Given the description of an element on the screen output the (x, y) to click on. 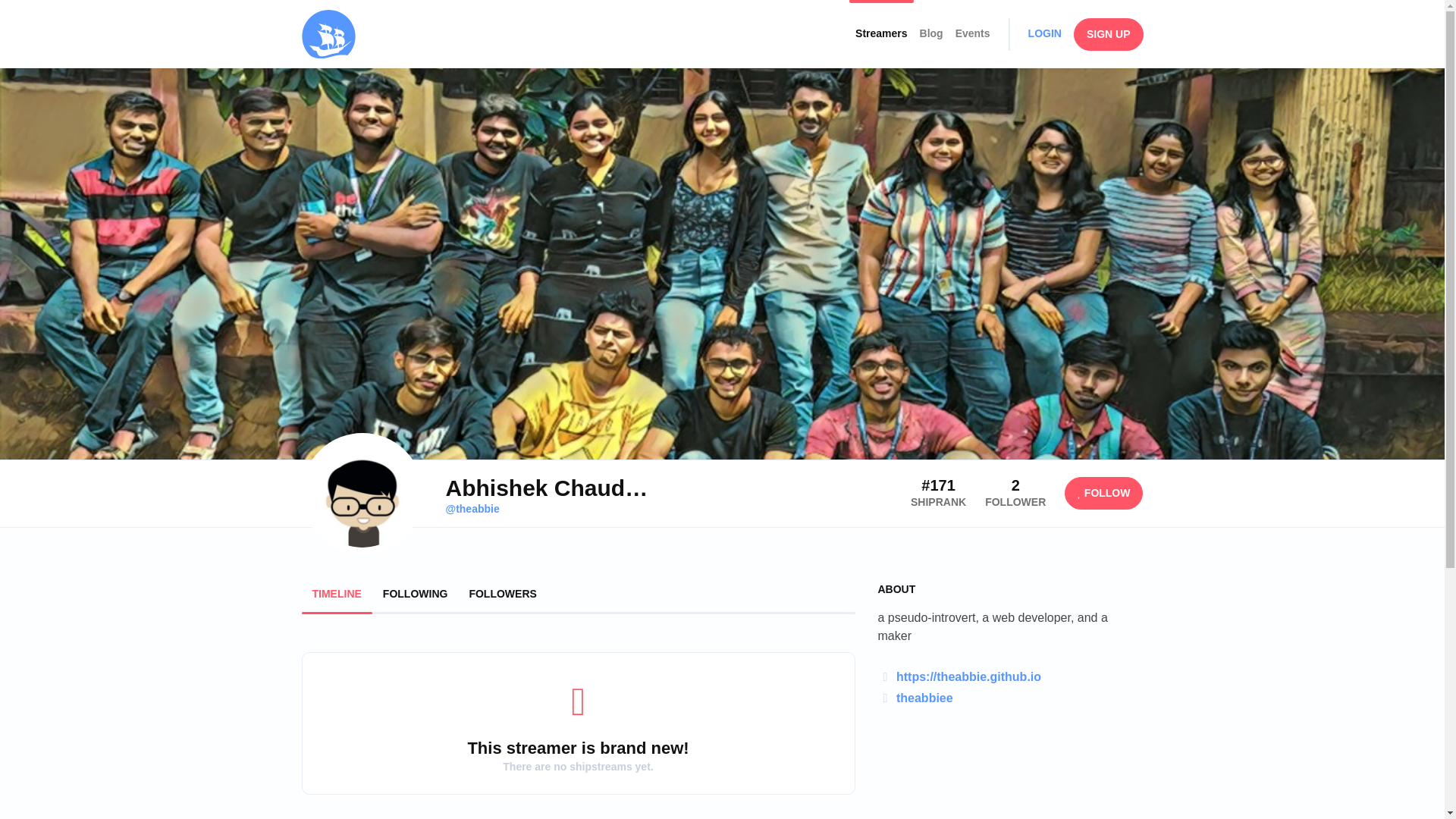
LOGIN (1044, 33)
Events (972, 33)
Streamers (881, 33)
TIMELINE (337, 593)
FOLLOW (1103, 492)
FOLLOWING (415, 593)
SIGN UP (1108, 34)
Blog (931, 33)
FOLLOWERS (501, 593)
theabbiee (924, 697)
